Given the description of an element on the screen output the (x, y) to click on. 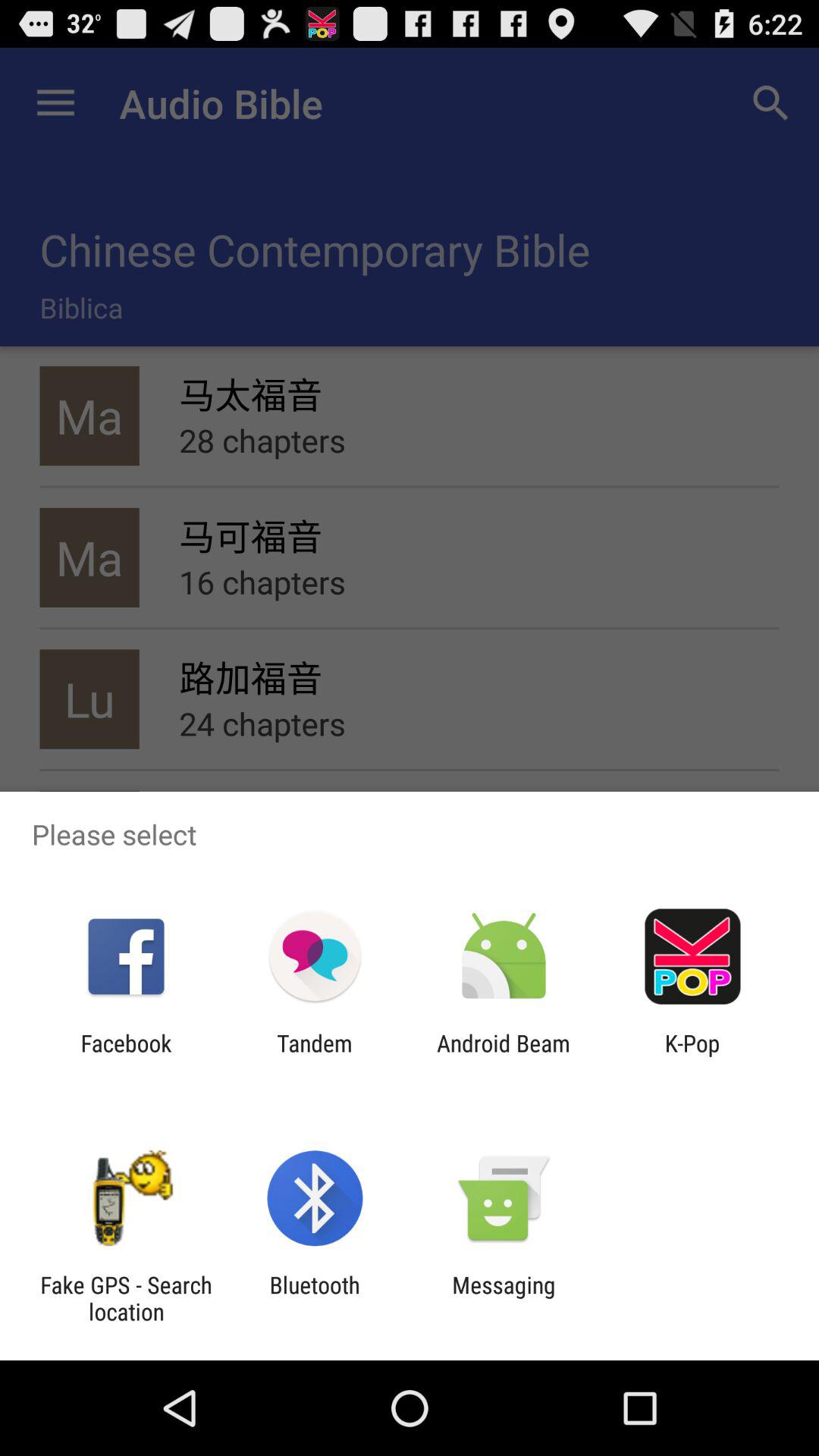
tap the icon at the bottom right corner (692, 1056)
